Given the description of an element on the screen output the (x, y) to click on. 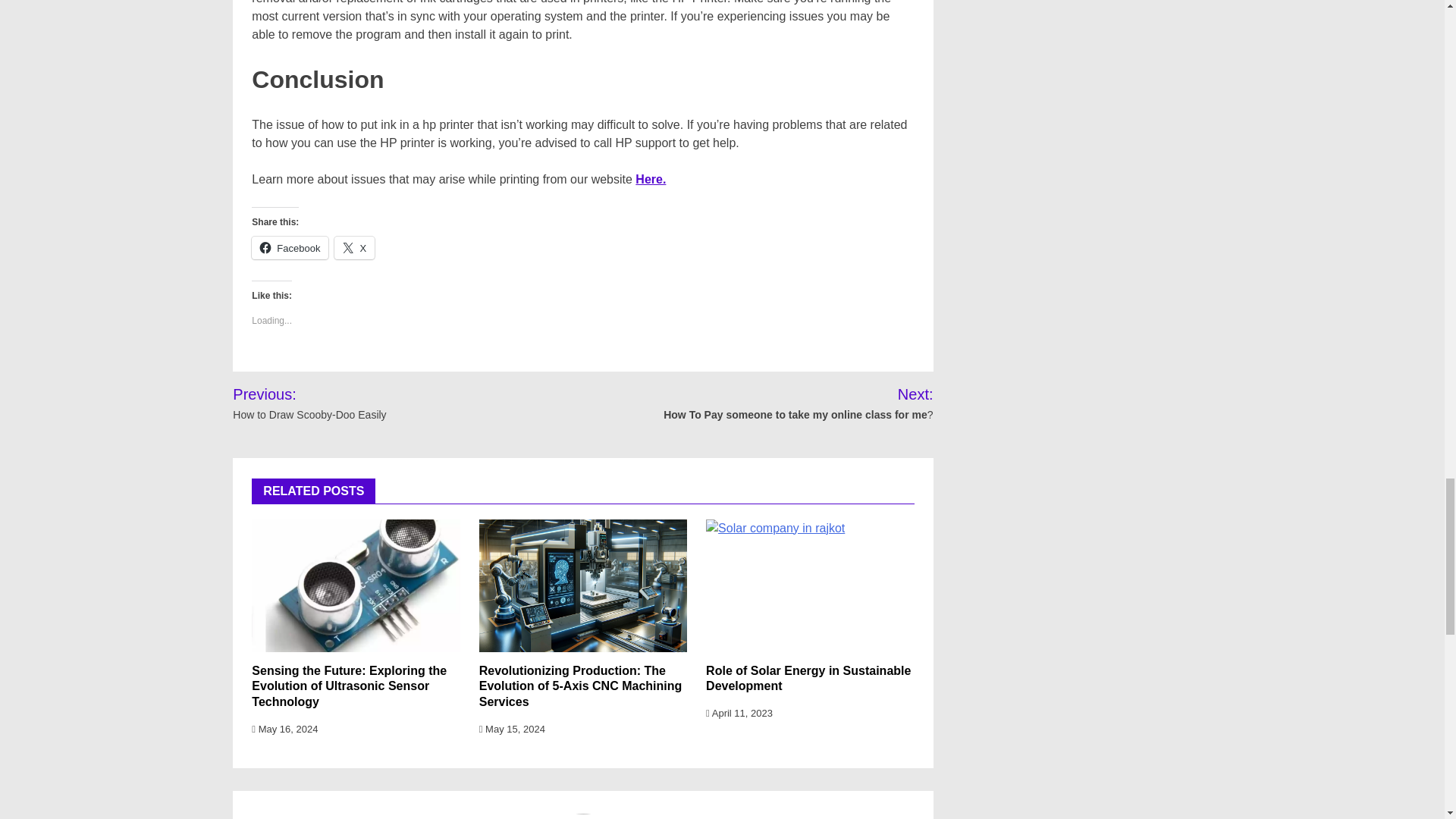
Previous: How to Draw Scooby-Doo Easily (342, 402)
X (354, 247)
Facebook (290, 247)
May 16, 2024 (284, 728)
Click to share on Facebook (290, 247)
Next: How To Pay someone to take my online class for me? (778, 402)
Here. (649, 178)
Click to share on X (354, 247)
